Given the description of an element on the screen output the (x, y) to click on. 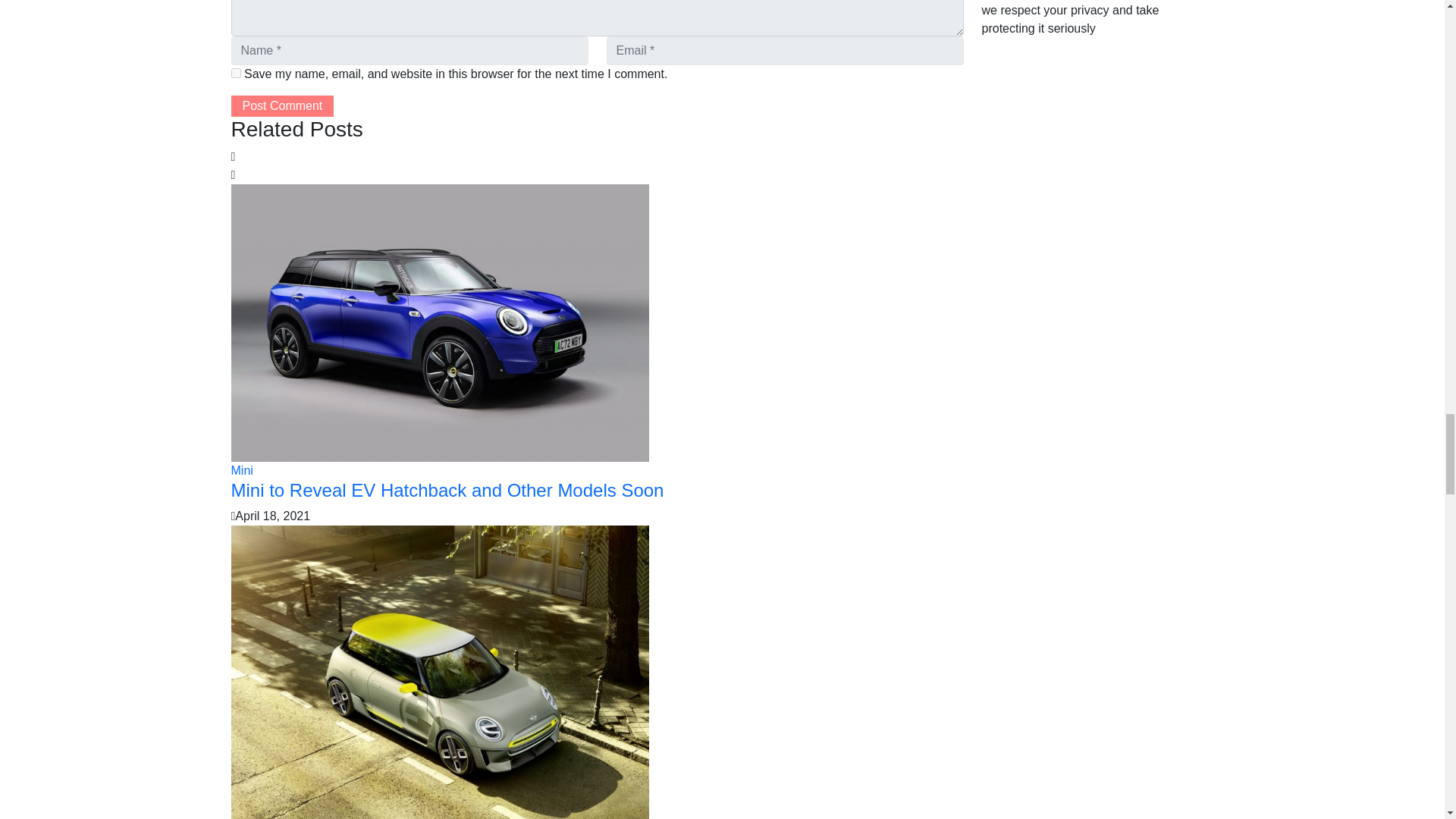
Post Comment (281, 106)
yes (235, 72)
